Given the description of an element on the screen output the (x, y) to click on. 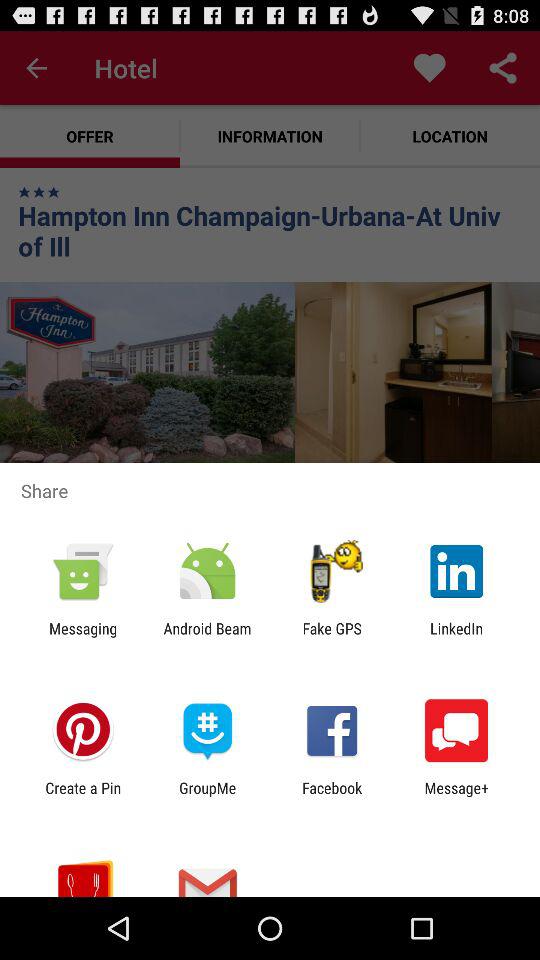
swipe until groupme item (207, 796)
